Given the description of an element on the screen output the (x, y) to click on. 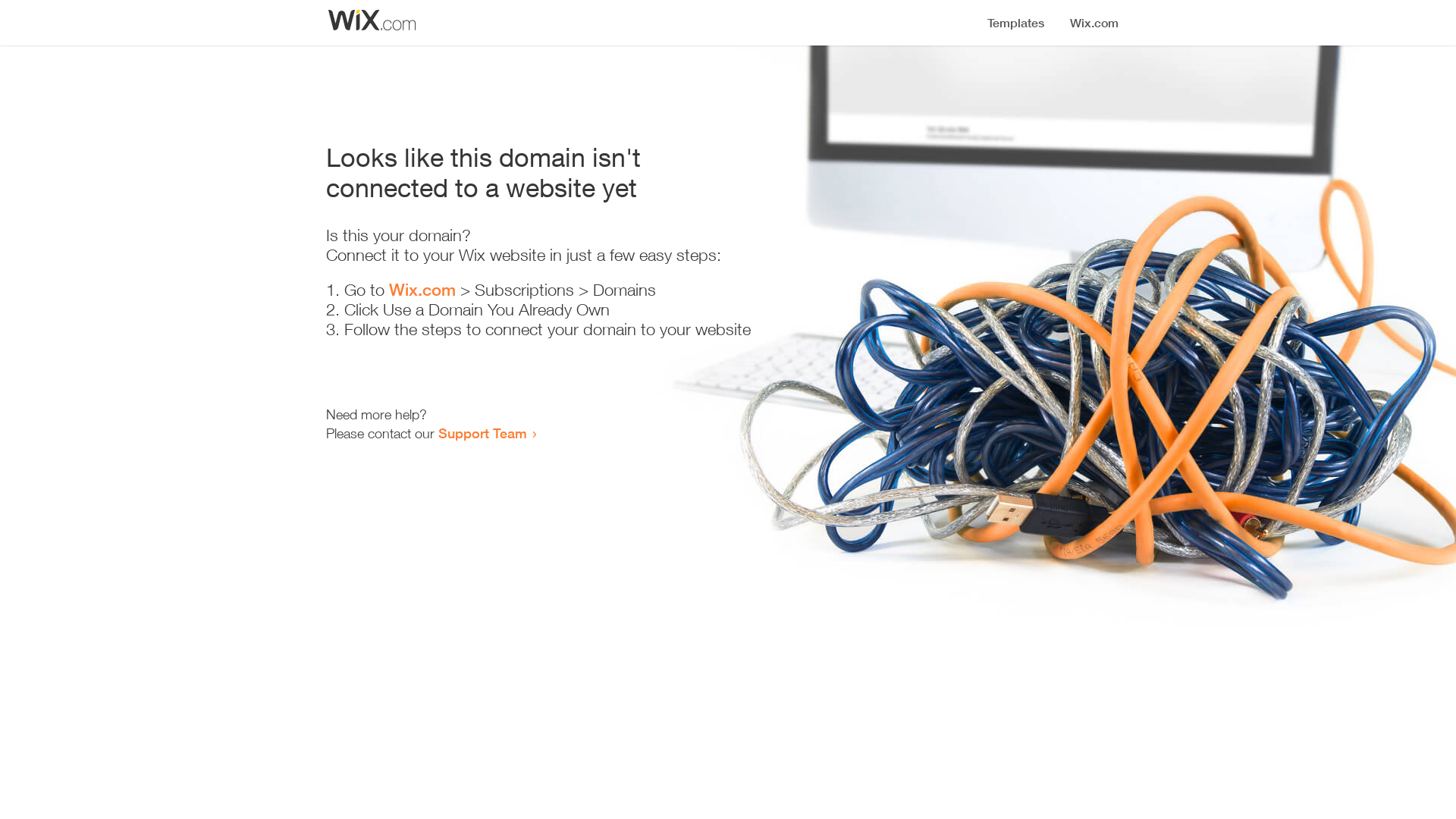
Support Team Element type: text (482, 432)
Wix.com Element type: text (422, 289)
